Given the description of an element on the screen output the (x, y) to click on. 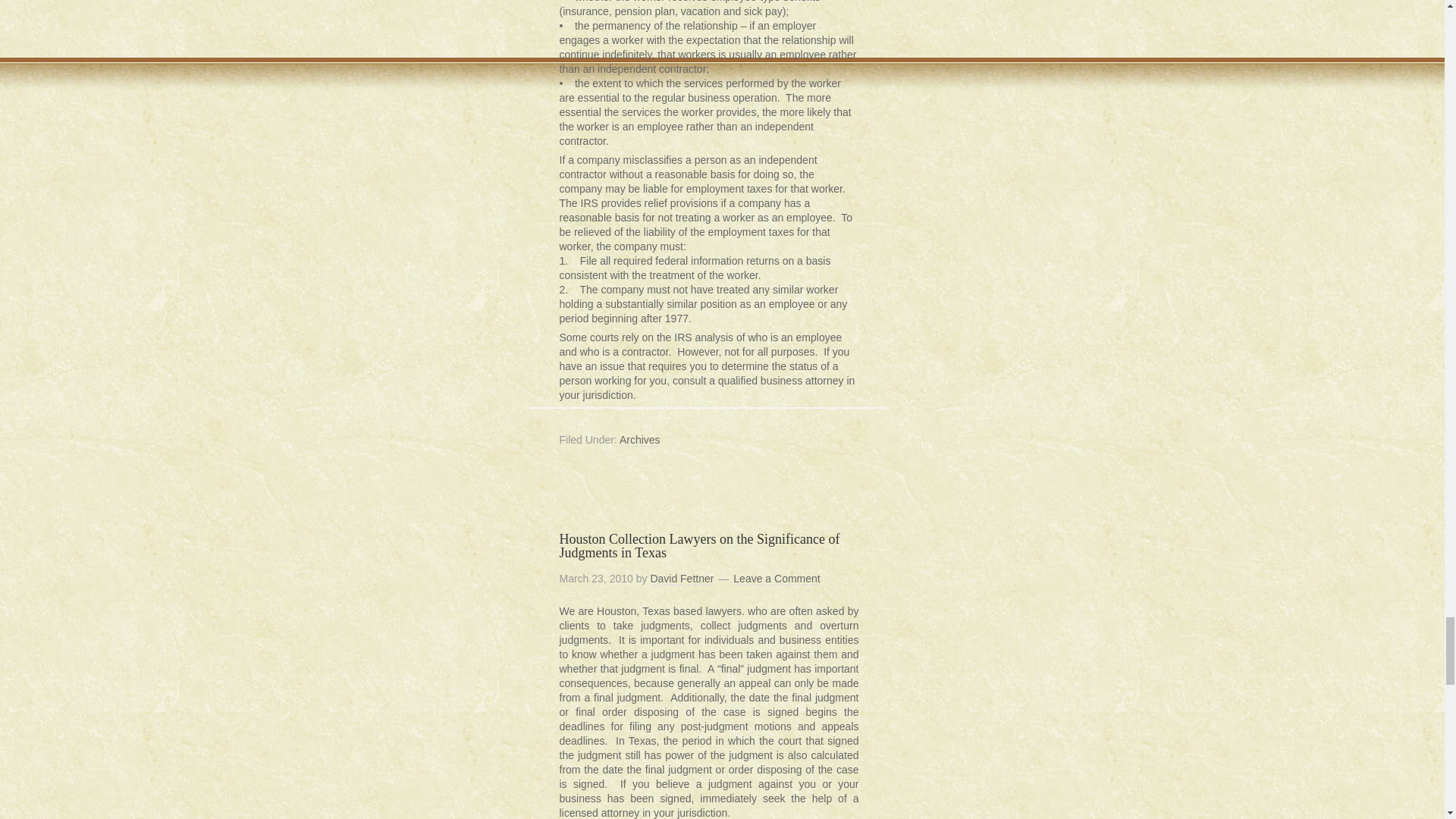
David Fettner (681, 578)
Archives (640, 440)
Leave a Comment (776, 578)
